Given the description of an element on the screen output the (x, y) to click on. 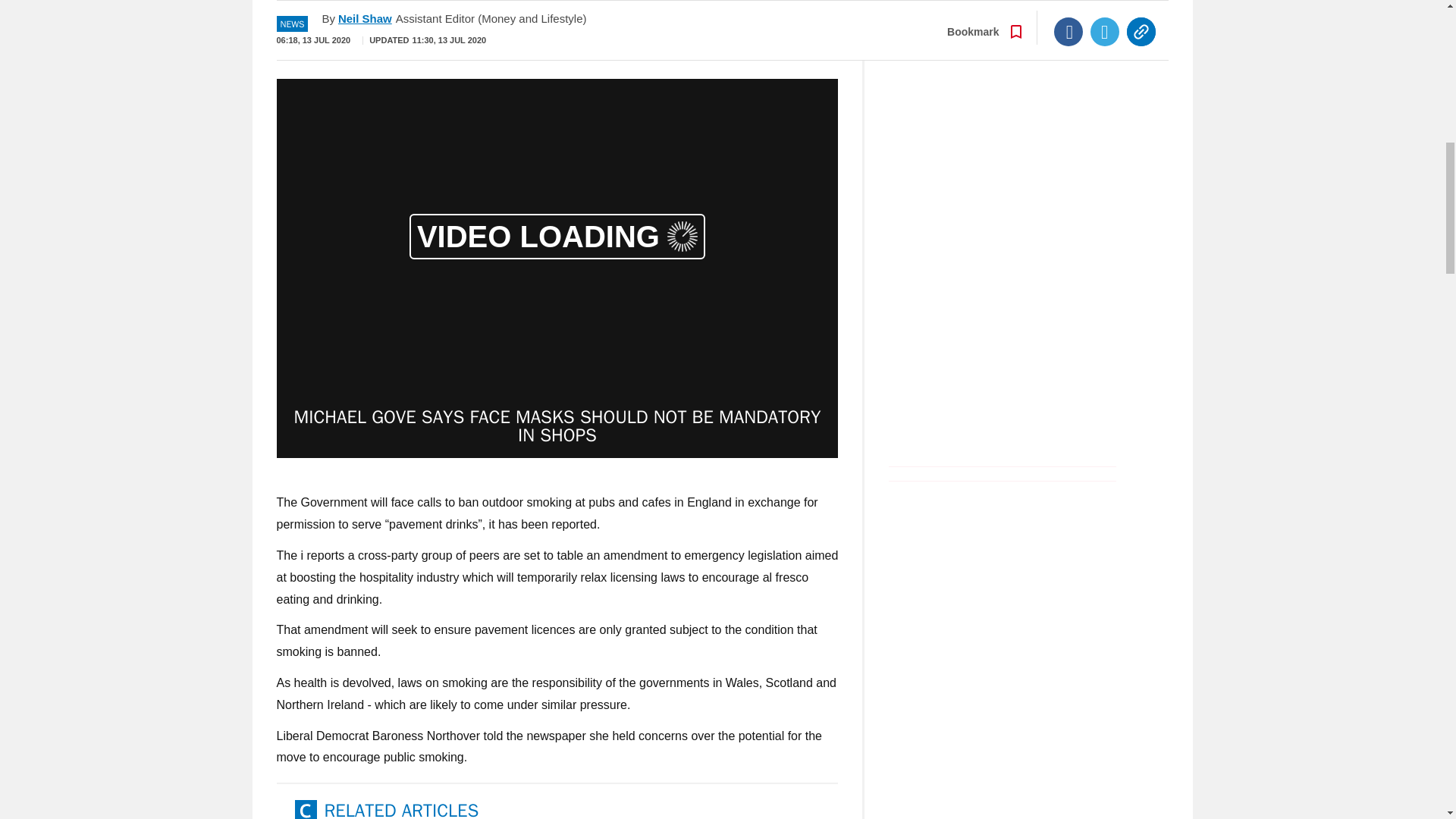
Go (730, 29)
